Given the description of an element on the screen output the (x, y) to click on. 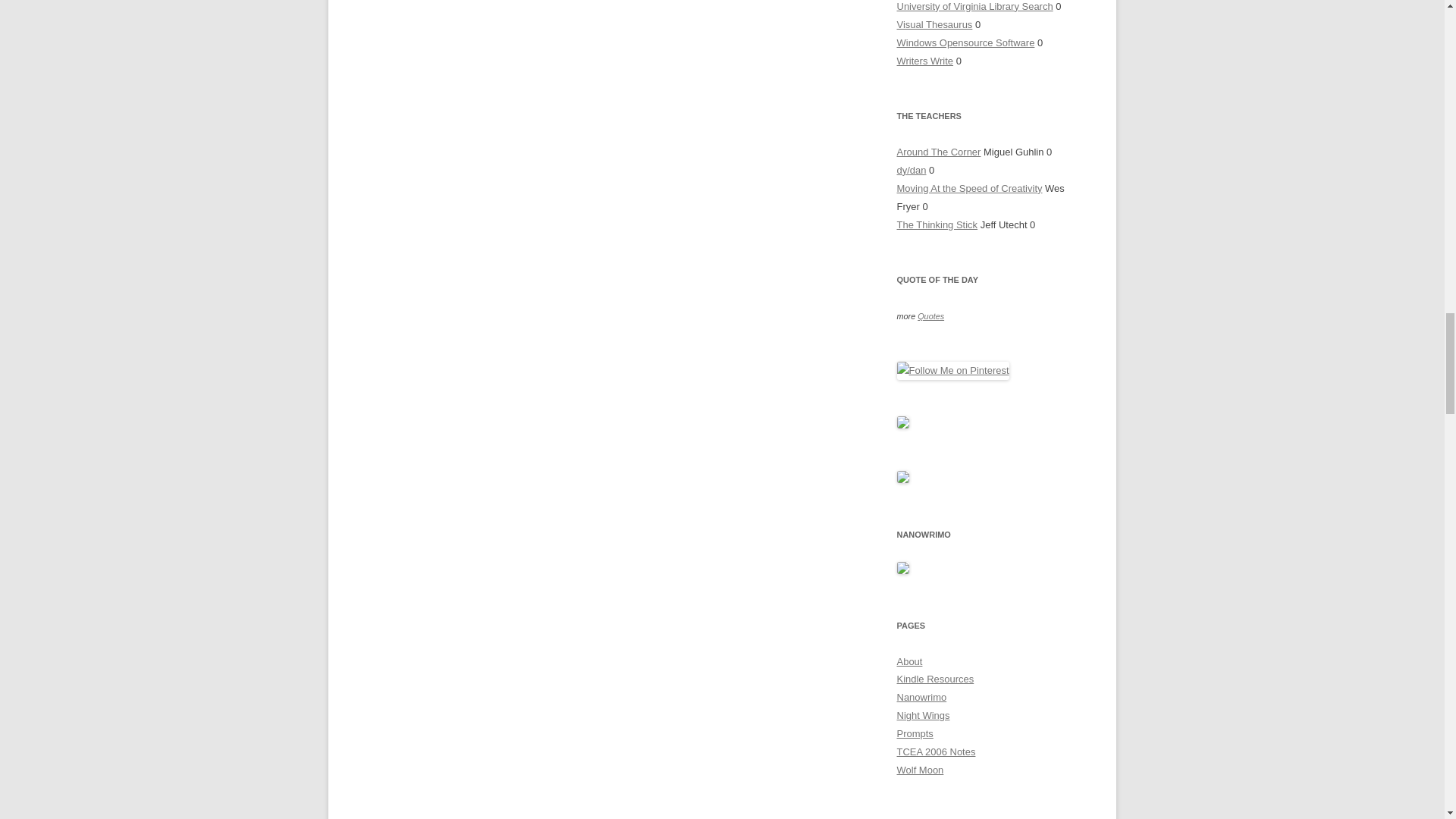
Miguel Guhlin (937, 152)
Wes Fryer (969, 188)
Jeff Utecht (936, 224)
